Given the description of an element on the screen output the (x, y) to click on. 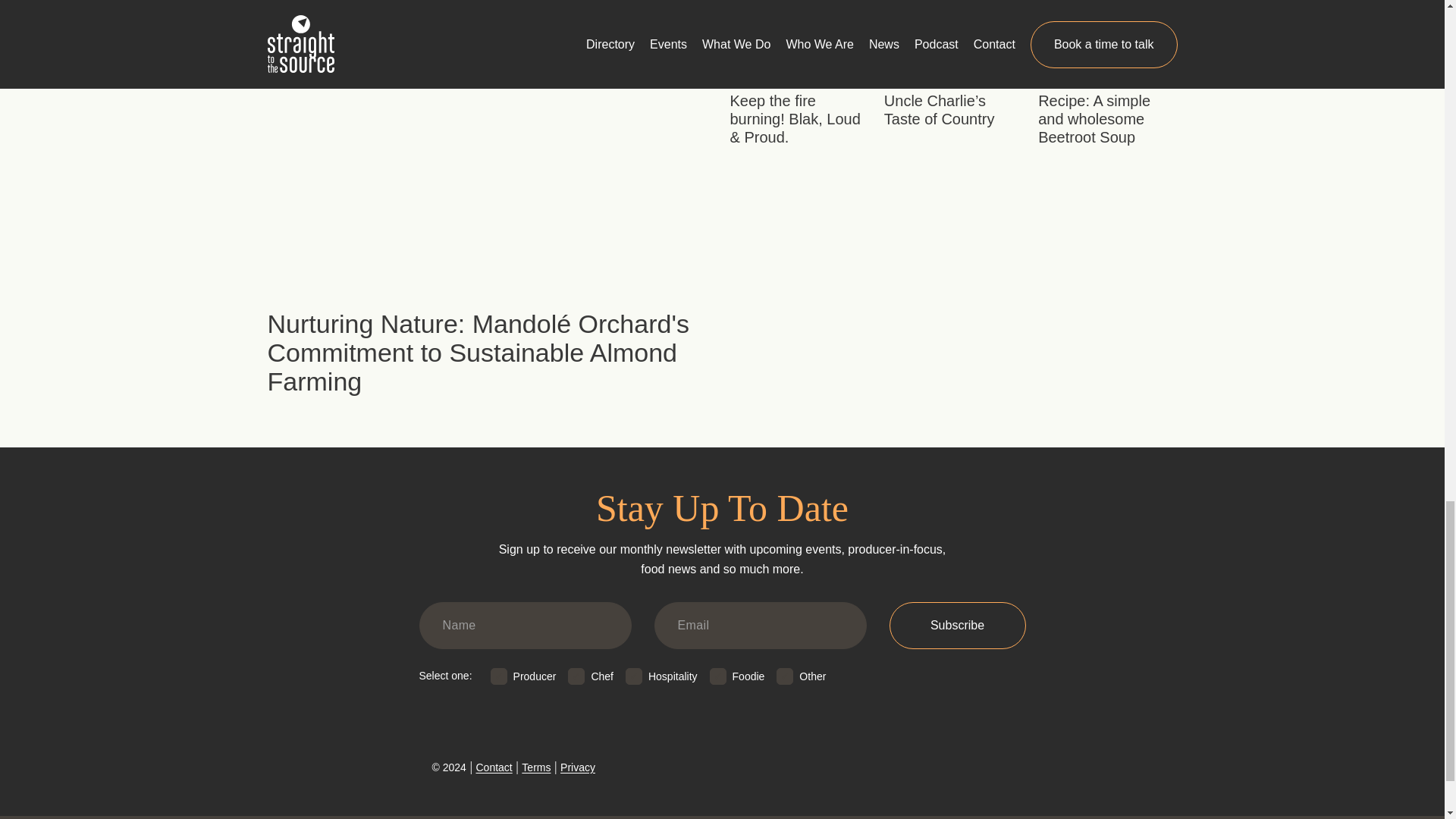
Terms (535, 767)
on (498, 676)
on (634, 676)
on (718, 676)
on (576, 676)
Privacy (577, 767)
Contact (494, 767)
Subscribe (956, 625)
on (784, 676)
